Given the description of an element on the screen output the (x, y) to click on. 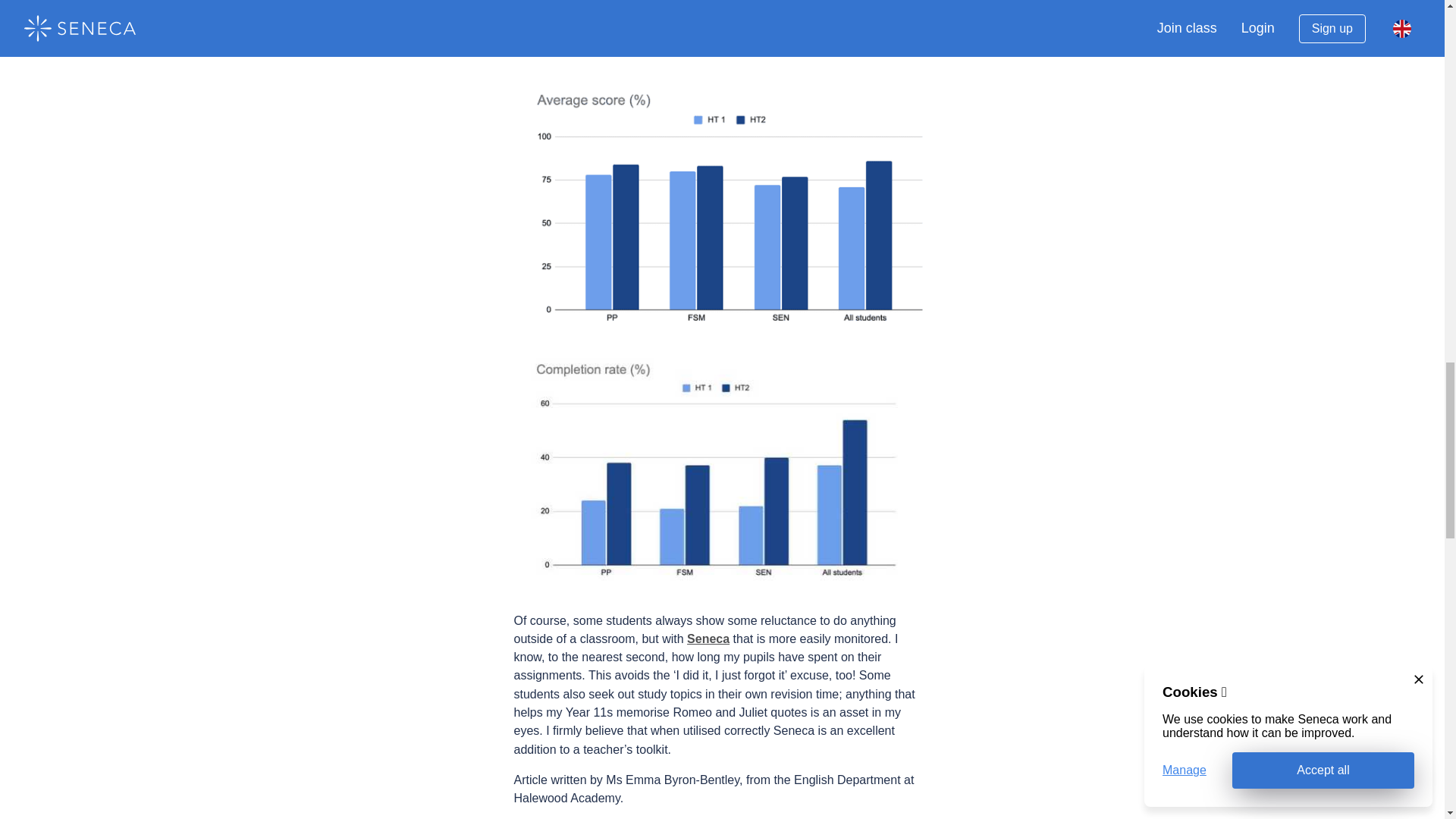
Seneca increases assignment completion rate (722, 470)
Seneca increases learning (722, 198)
Seneca (708, 638)
